Given the description of an element on the screen output the (x, y) to click on. 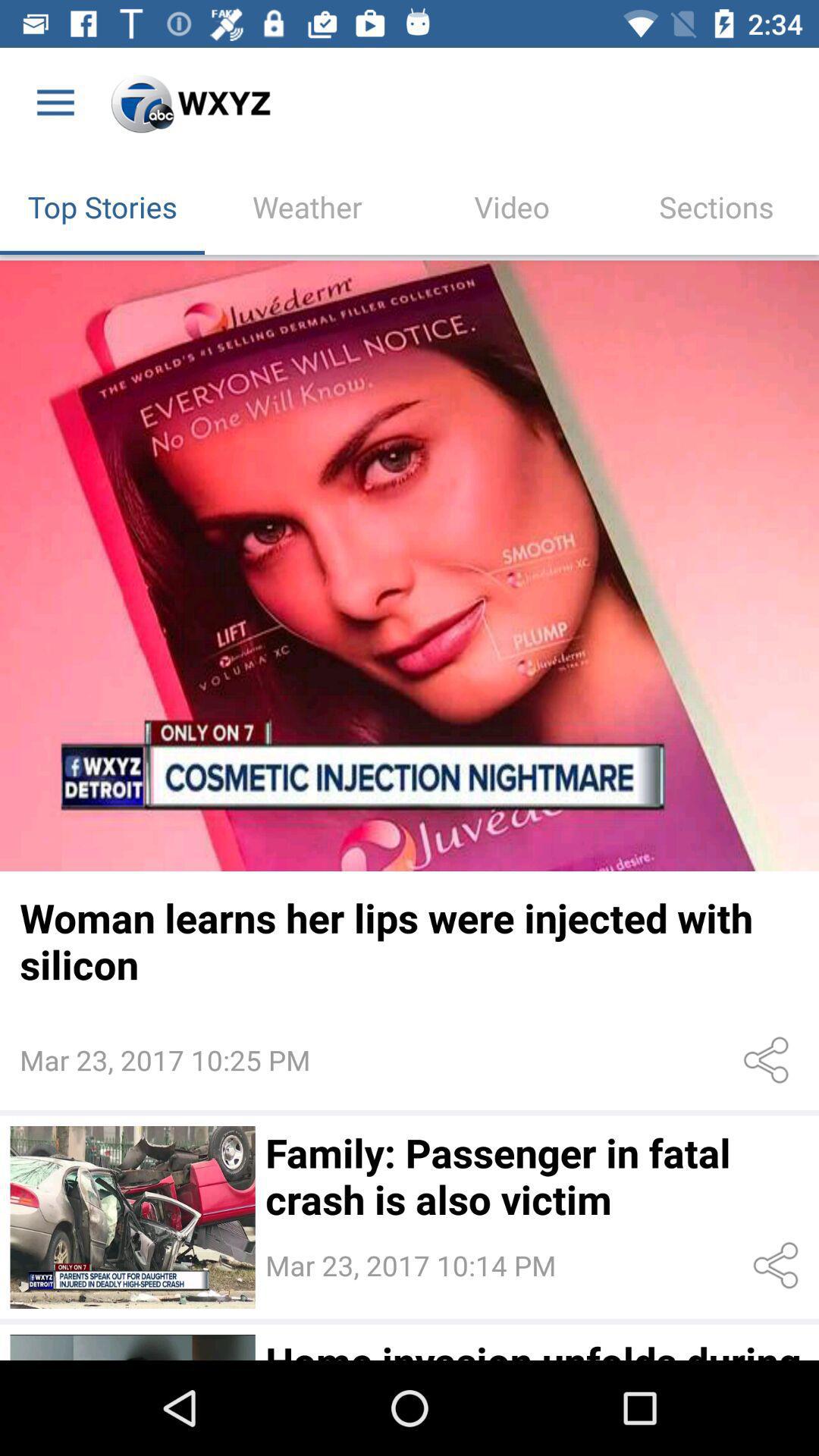
click on the image which is left hand side of family passenger in fatal crash is also victim (132, 1216)
